Given the description of an element on the screen output the (x, y) to click on. 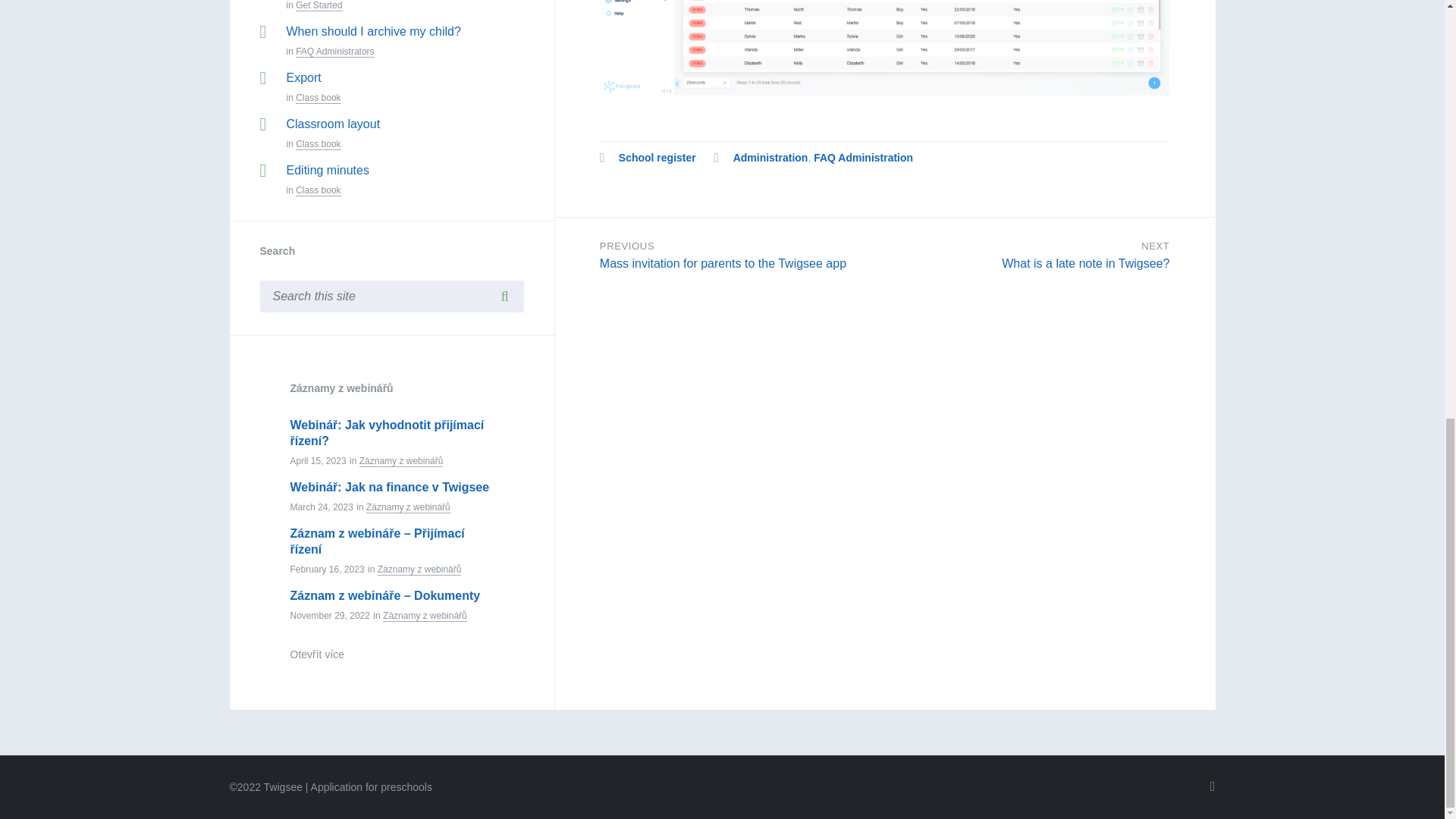
Administration (770, 157)
What is a late note in Twigsee? (1085, 263)
PREVIOUS (626, 245)
NEXT (1155, 245)
School register (656, 157)
Mass invitation for parents to the Twigsee app (722, 263)
FAQ Administration (862, 157)
